Given the description of an element on the screen output the (x, y) to click on. 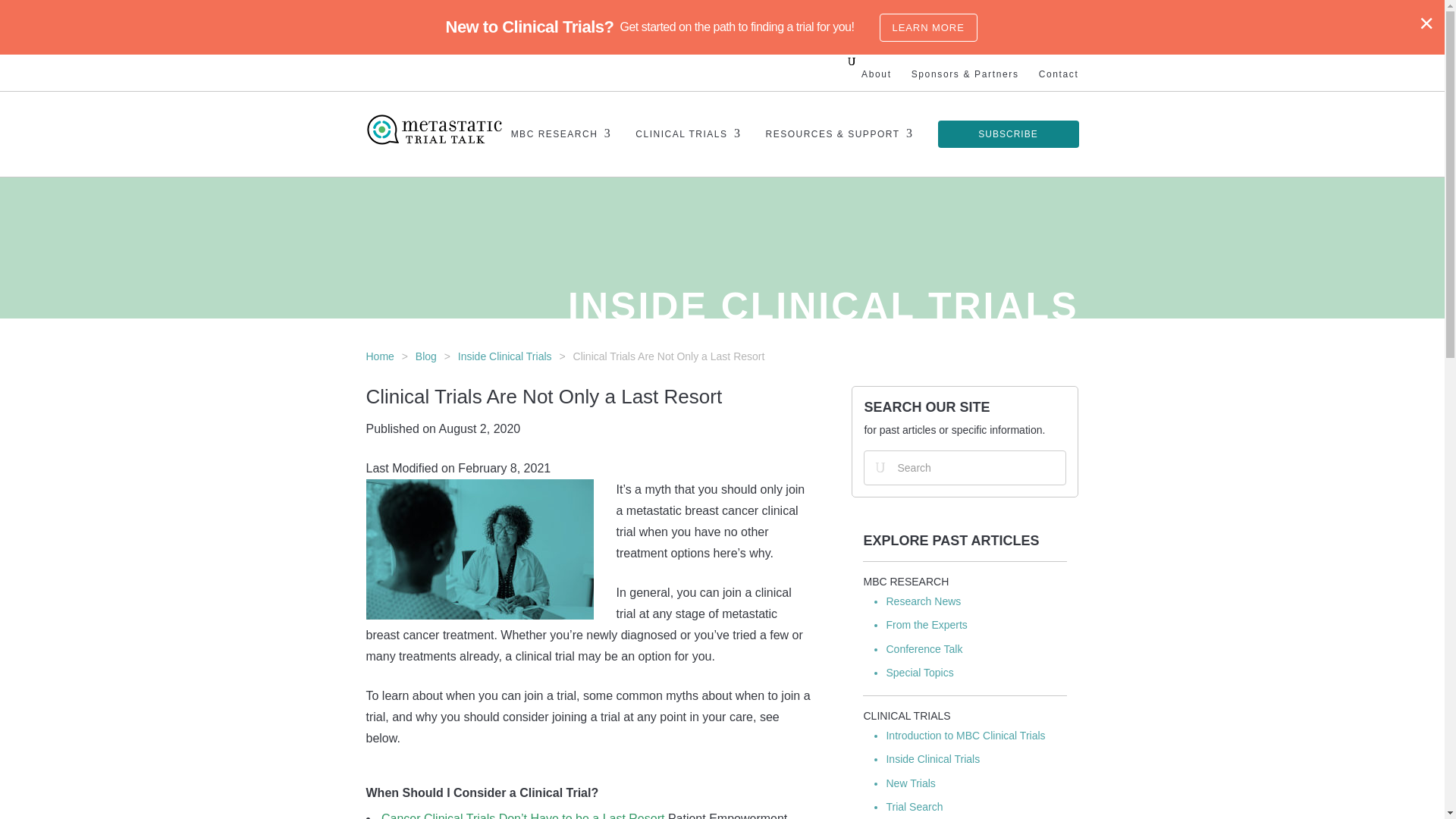
MBC RESEARCH (561, 151)
CLINICAL TRIALS (687, 151)
About (876, 73)
Contact (1058, 73)
Blog (425, 356)
SUBSCRIBE (1007, 134)
MBC RESEARCH (906, 581)
Inside Clinical Trials (504, 356)
Research News (922, 601)
LEARN MORE (927, 27)
Home (379, 356)
